Given the description of an element on the screen output the (x, y) to click on. 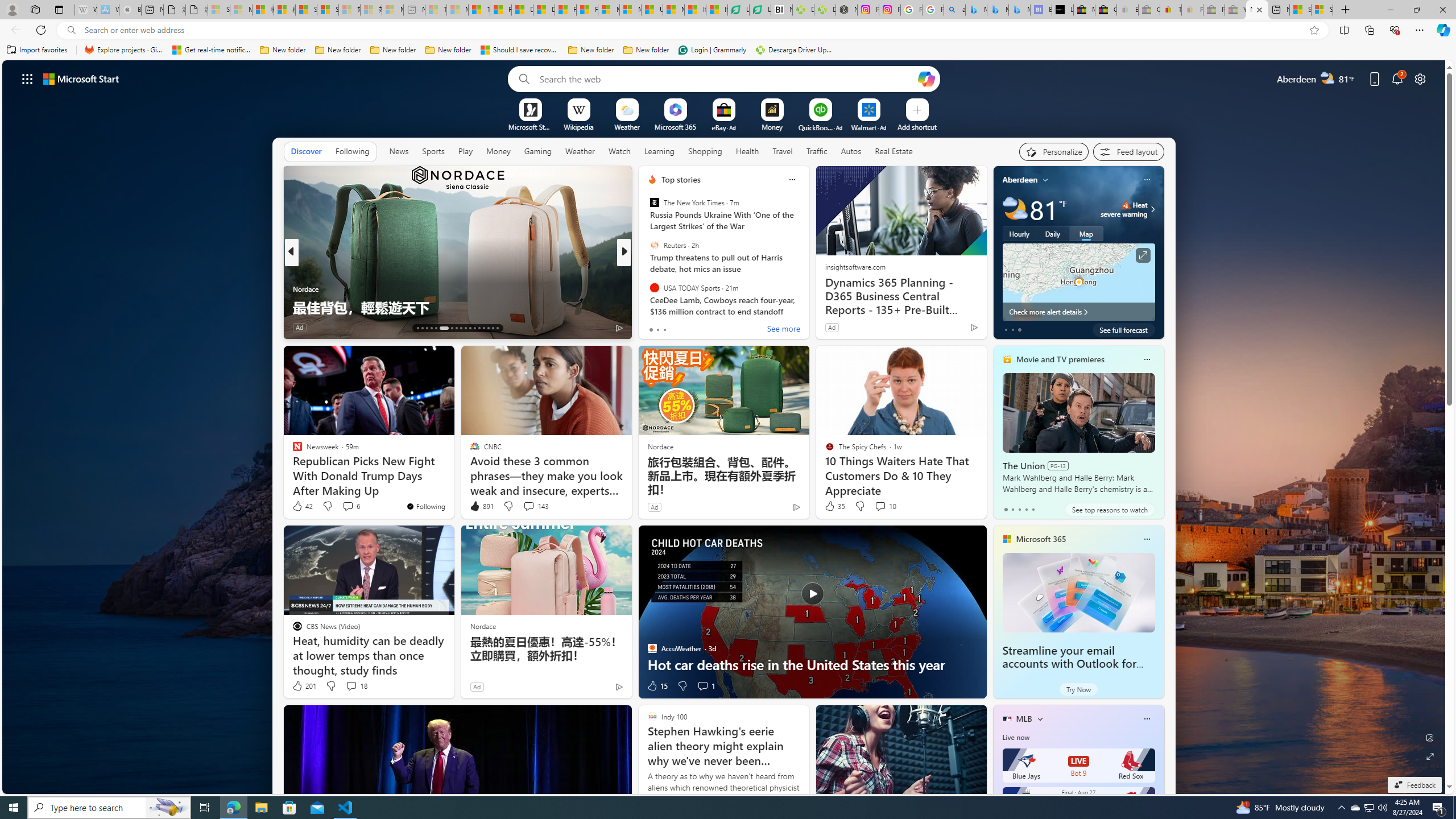
Foo BAR | Trusted Community Engagement and Contributions (587, 9)
Heat - Severe (1126, 204)
Threats and offensive language policy | eBay (1170, 9)
alabama high school quarterback dies - Search (954, 9)
Search icon (70, 29)
View comments 8 Comment (702, 327)
View comments 18 Comment (355, 685)
Page settings (1420, 78)
View comments 10 Comment (885, 505)
201 Like (303, 685)
Microsoft Bing Travel - Shangri-La Hotel Bangkok (1019, 9)
